Given the description of an element on the screen output the (x, y) to click on. 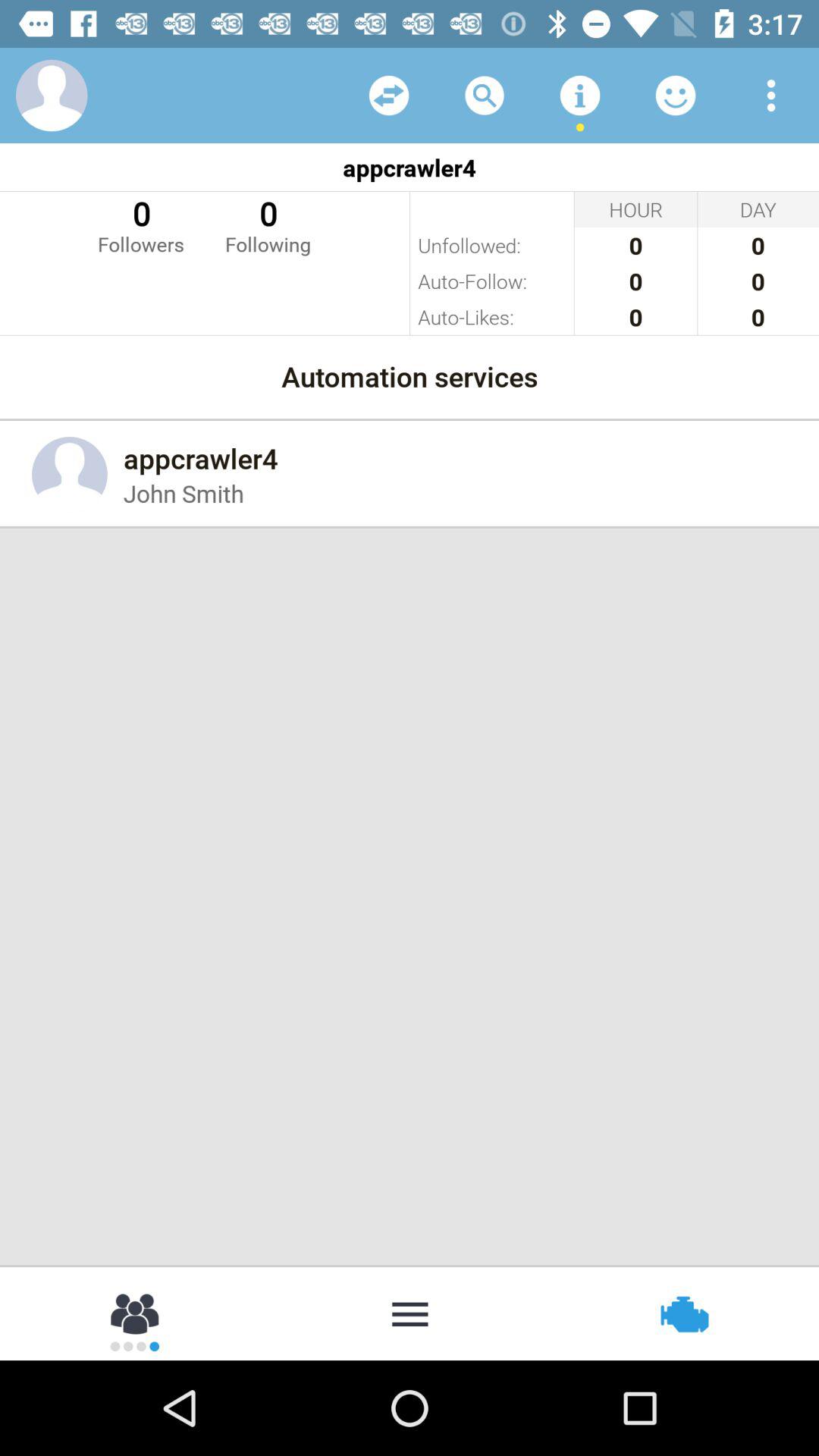
search button (484, 95)
